Given the description of an element on the screen output the (x, y) to click on. 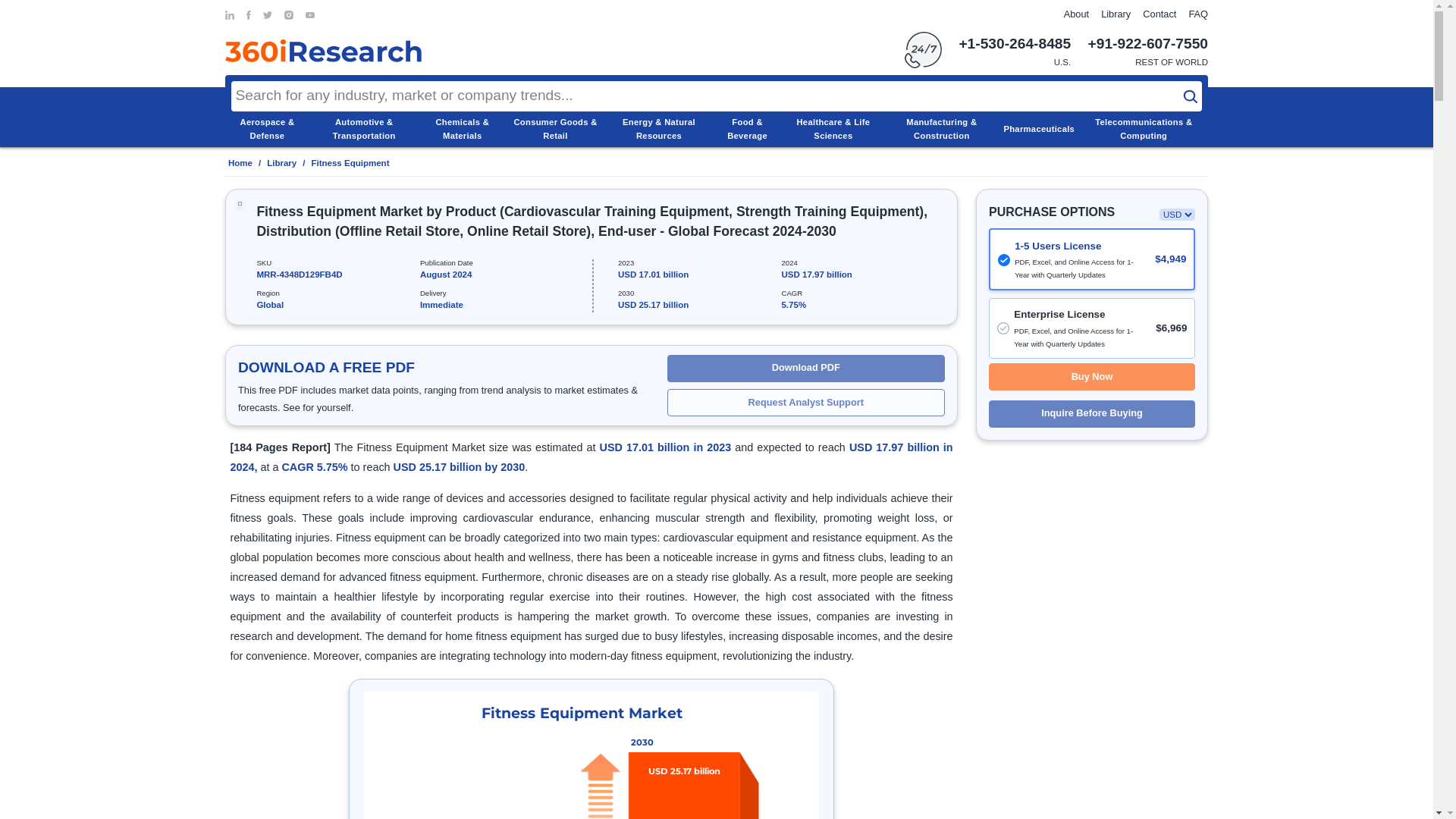
Contact (1159, 13)
About (1076, 13)
Home (238, 162)
360iResearch 24-7 (923, 49)
Pharmaceuticals (1038, 128)
Fitness Equipment Market (591, 755)
Library (1115, 13)
About (1076, 13)
360iResearch Youtube (309, 15)
360iResearch Instagram (288, 14)
